Given the description of an element on the screen output the (x, y) to click on. 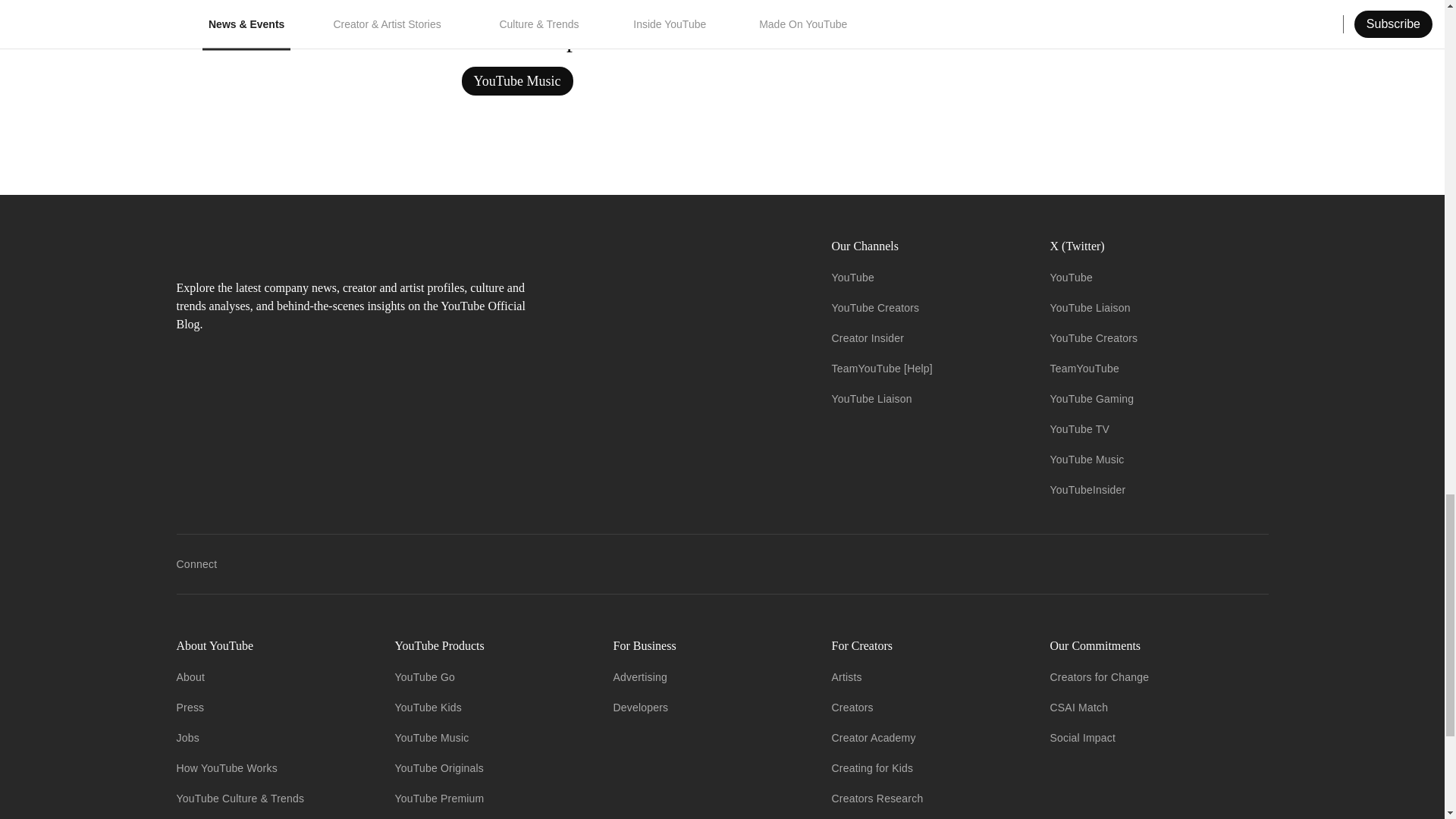
Our Channels (928, 246)
YouTube Music (516, 80)
YouTube Creators (874, 307)
Creator Insider (867, 337)
YouTube Music (516, 80)
YouTube (852, 277)
YouTube Liaison (871, 398)
